Given the description of an element on the screen output the (x, y) to click on. 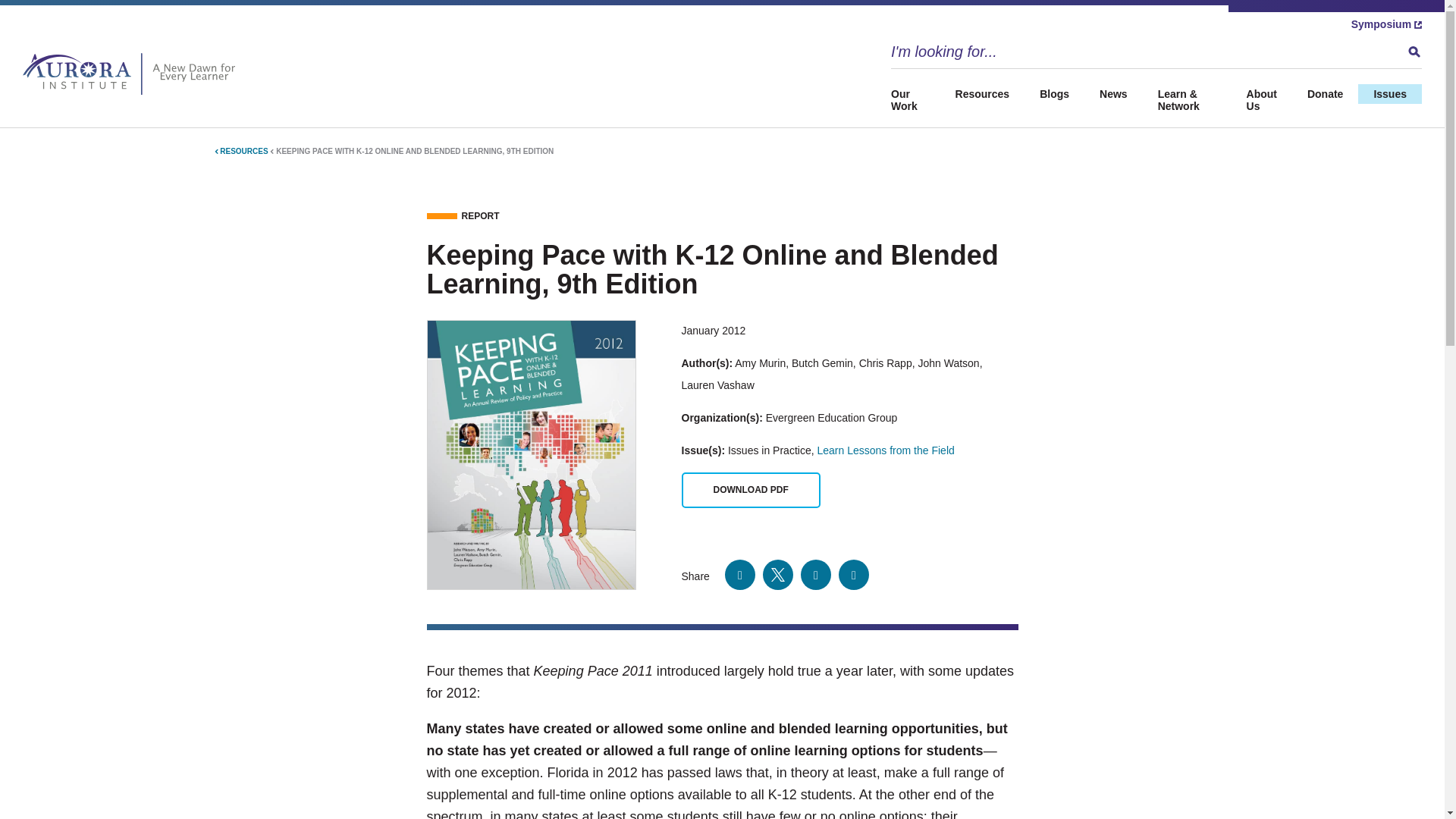
Our Work (915, 100)
Aurora Institute (133, 74)
Blogs (1054, 94)
Resources (982, 94)
News (1113, 94)
Symposium (1386, 24)
